Given the description of an element on the screen output the (x, y) to click on. 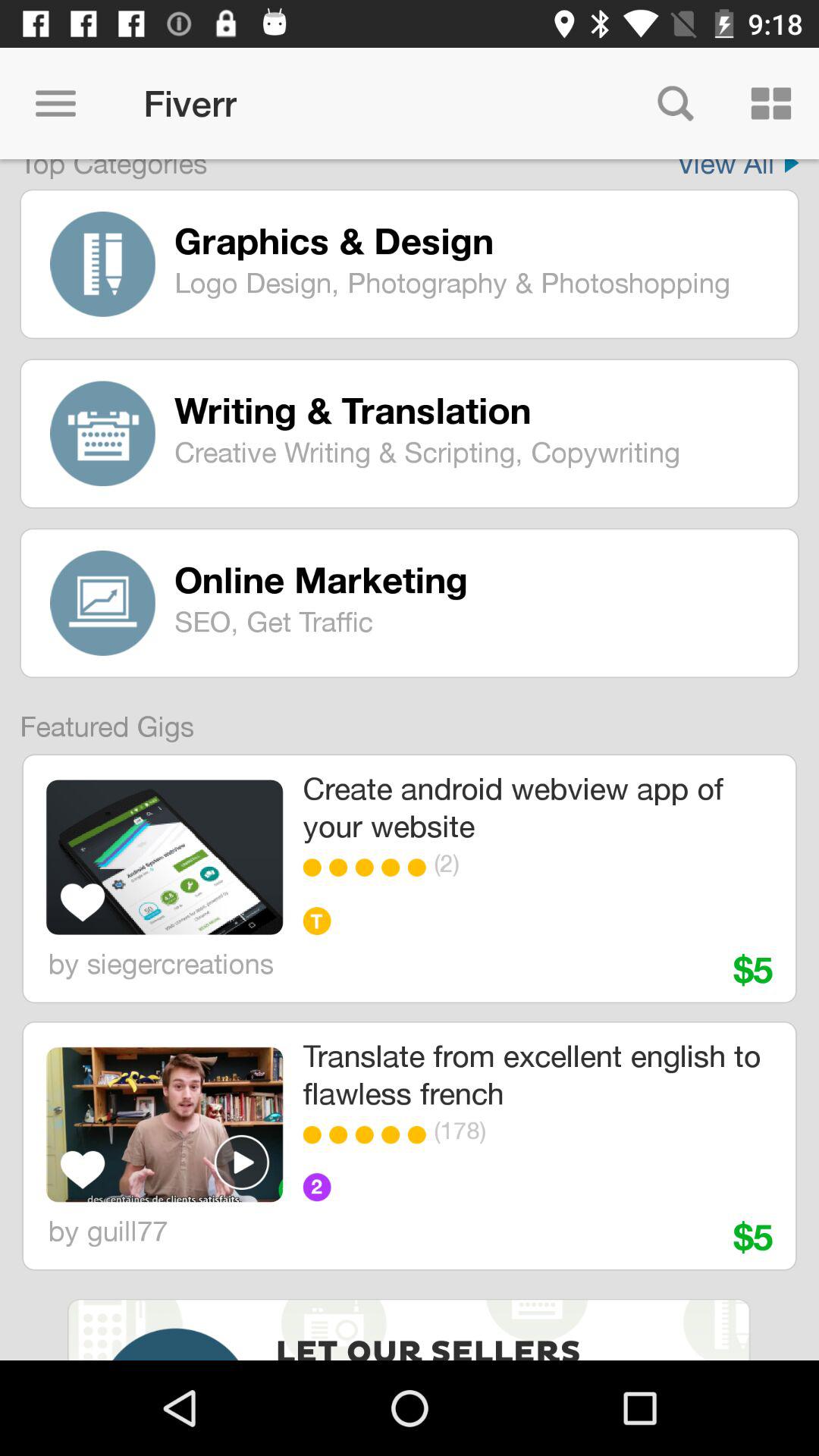
launch item above the creative writing scripting (475, 410)
